Given the description of an element on the screen output the (x, y) to click on. 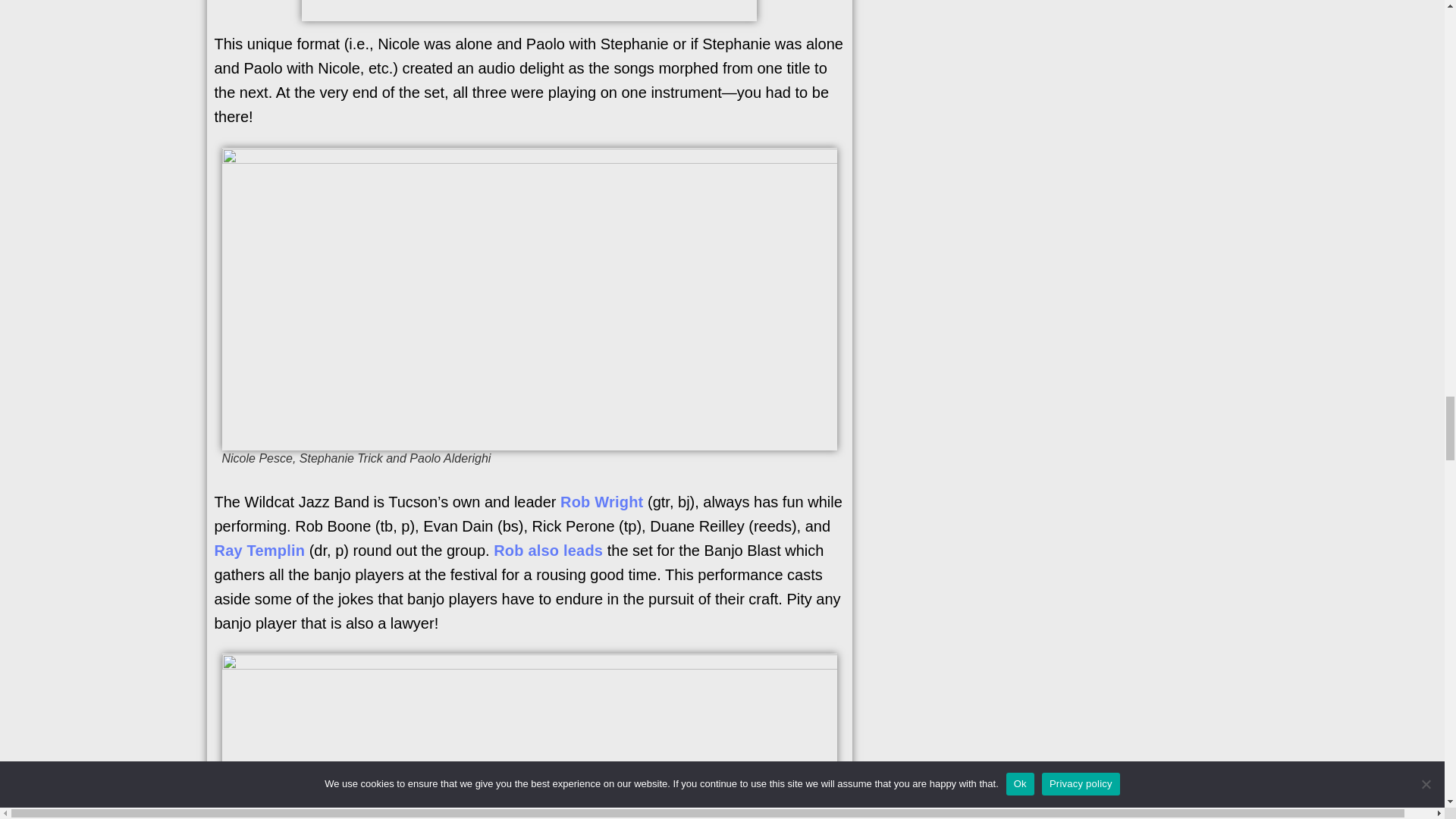
Central PA Ragtime Festival (529, 10)
